Given the description of an element on the screen output the (x, y) to click on. 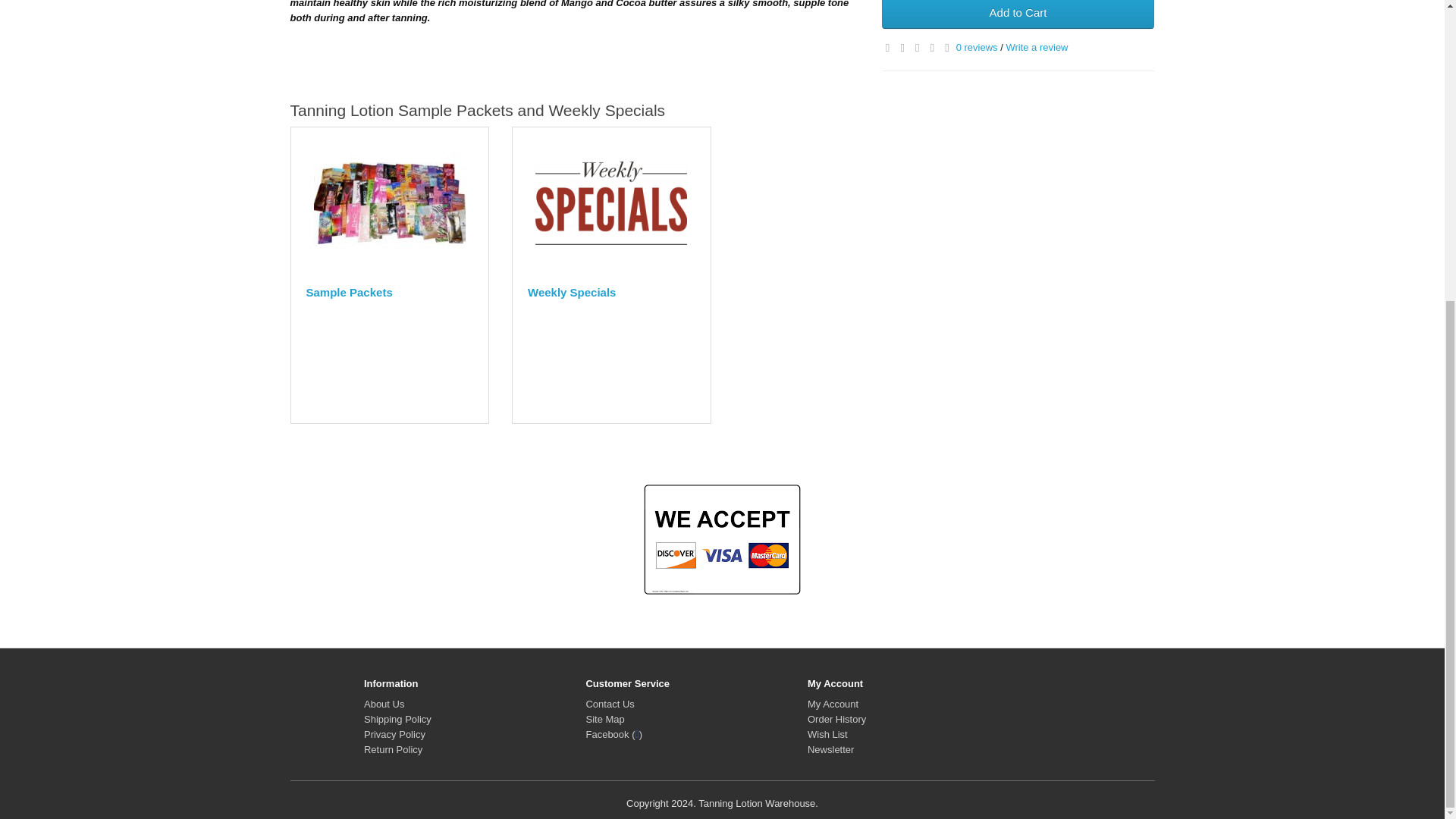
Weekly Specials (611, 203)
Facebook (613, 734)
Sample Packets (389, 203)
